Given the description of an element on the screen output the (x, y) to click on. 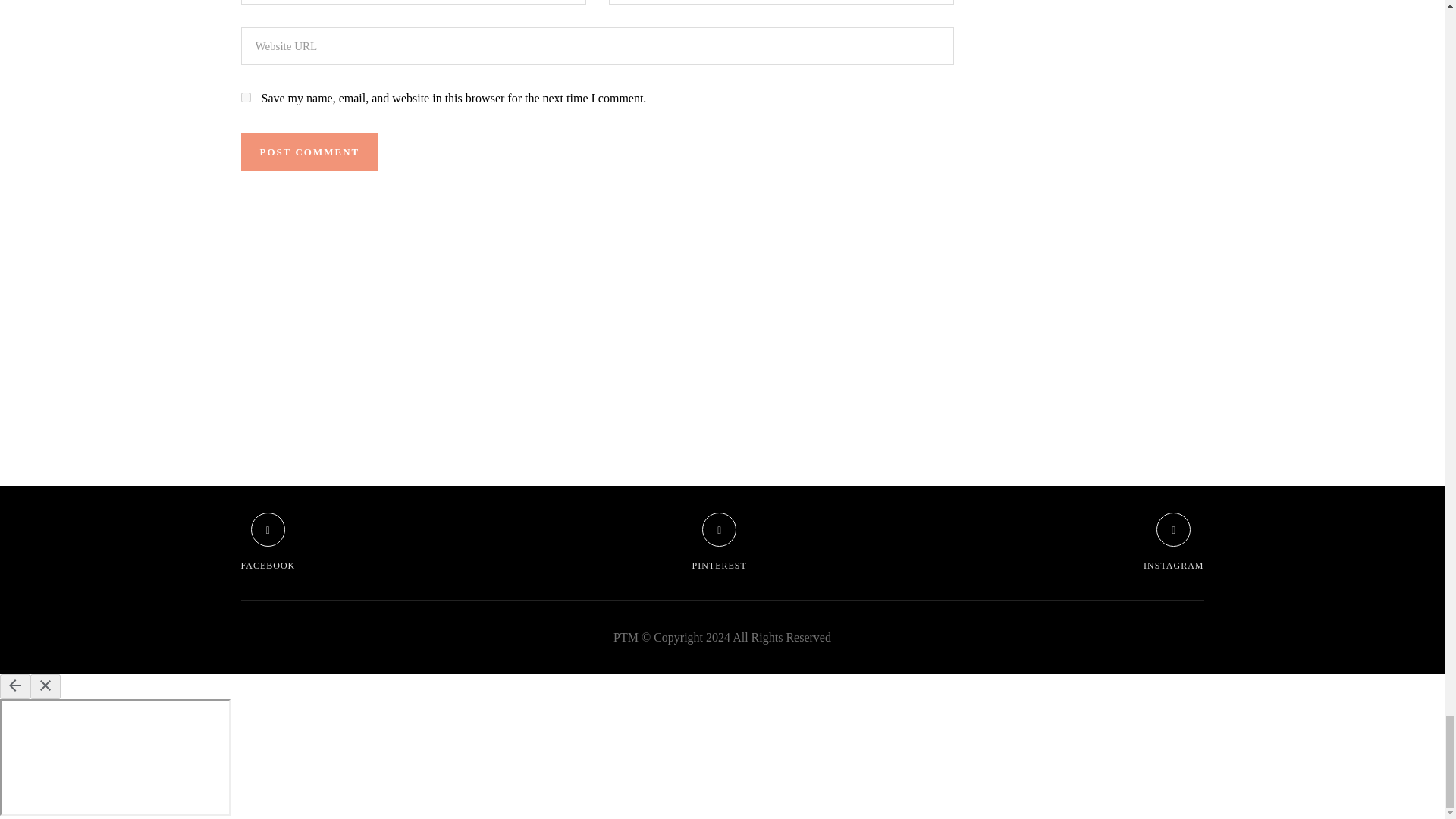
Post Comment (309, 152)
yes (245, 97)
